Given the description of an element on the screen output the (x, y) to click on. 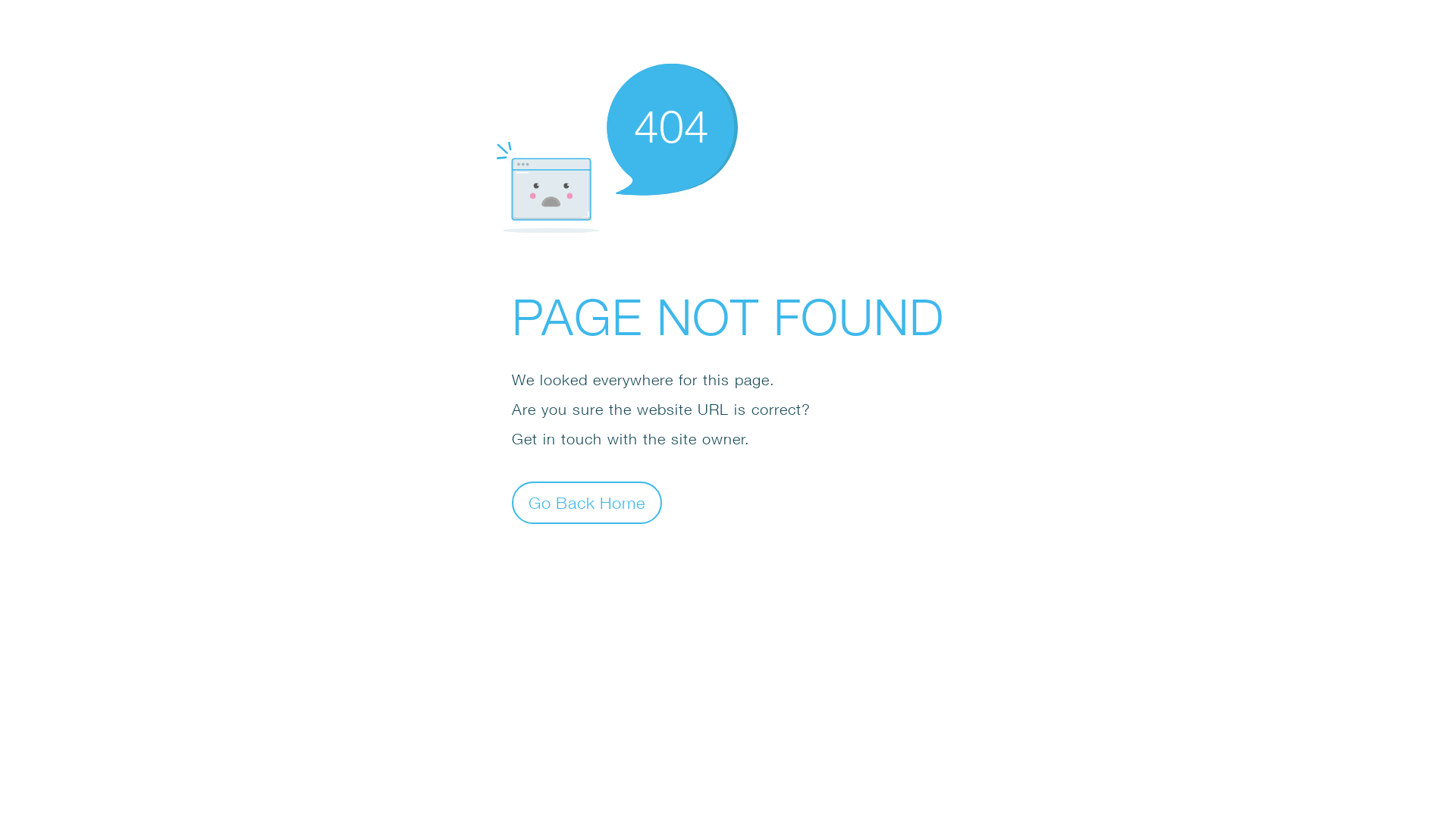
Go Back Home Element type: text (586, 502)
